Given the description of an element on the screen output the (x, y) to click on. 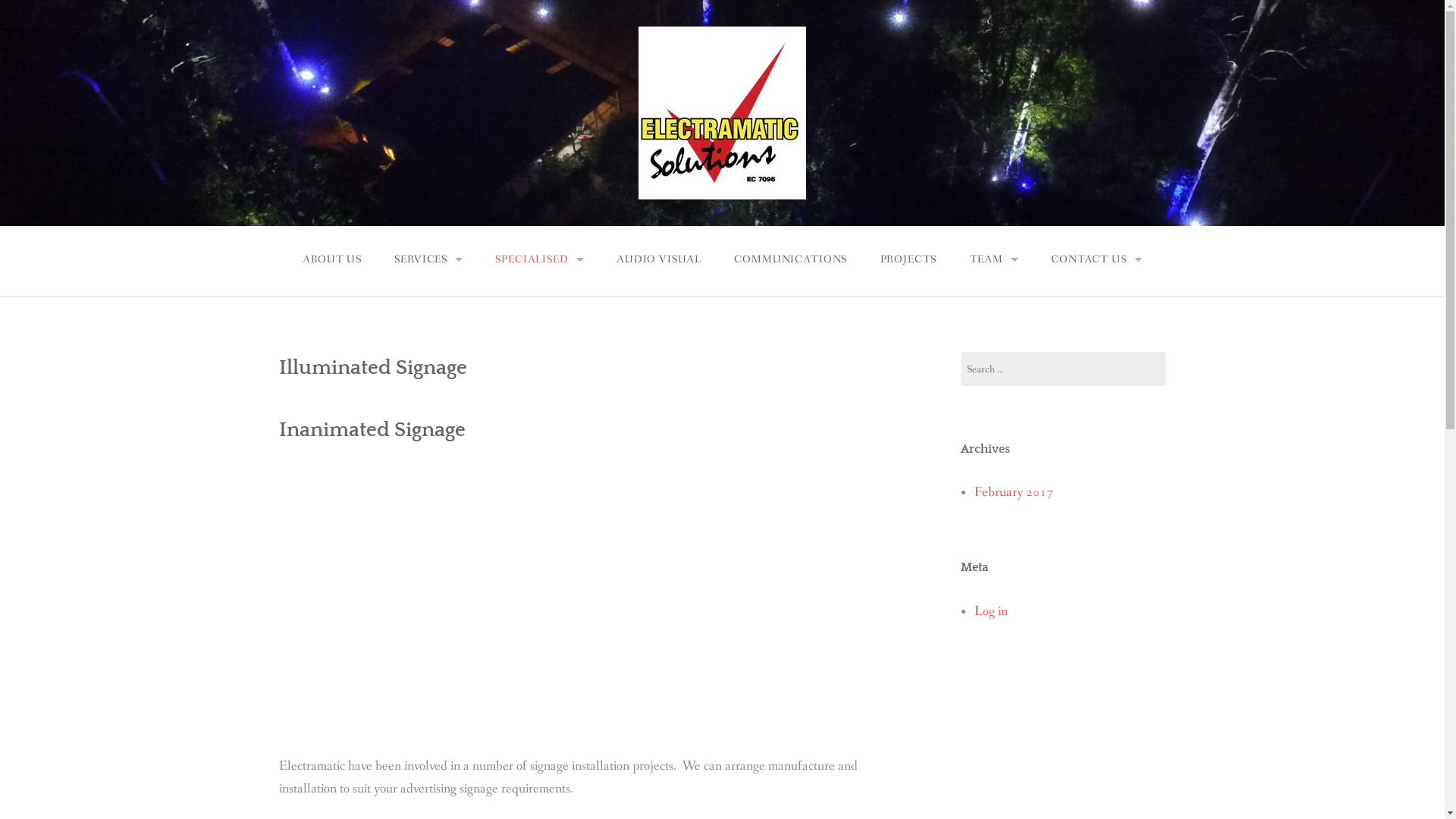
EMAIL Element type: text (1096, 336)
PERMANENT GENERATOR BACKUP Element type: text (419, 302)
UNDERGROUND CABLE LOCATION Element type: text (539, 522)
HOME AUTOMATION & CONTROL SOLUTIONS Element type: text (539, 556)
AUDIO VISUAL Element type: text (658, 259)
Skip to content Element type: text (0, 0)
SERVICES Element type: text (428, 259)
24 HR EMERGENCY CALLOUTS Element type: text (428, 302)
PROJECTS Element type: text (908, 259)
TEAM Element type: text (994, 259)
FIND US ON FACEBOOK Element type: text (1096, 302)
LED LANDSCAPE Element type: text (428, 541)
TEMPORARY GENERATOR SUPPLY Element type: text (419, 337)
RCD TESTING & LOGGING Element type: text (428, 575)
DATA LOGGING Element type: text (539, 453)
INDUSTRIAL AUTOMATION & CONTROL Element type: text (539, 590)
ILLUMINATED SIGNAGE Element type: text (539, 377)
Search Element type: text (34, 10)
ABOUT US Element type: text (332, 259)
SHEDS TO WAREHOUSES Element type: text (428, 472)
APPLIANCE TESTING & TAGGING Element type: text (428, 609)
GENERATOR BACK UP Element type: text (539, 302)
CONTACT US Element type: text (1096, 259)
THERMAL IMAGING Element type: text (539, 419)
SPECIALISED Element type: text (539, 259)
SHOP FIT OUTS, CALLOUTS Element type: text (428, 506)
February 2017 Element type: text (1013, 492)
COMMUNICATIONS Element type: text (790, 259)
POWER OUTLETS & SUPPLY Element type: text (428, 404)
HOT WATER REPAIRS Element type: text (428, 336)
Log in Element type: text (990, 611)
COMMERCIAL REFRIGERATION Element type: text (539, 336)
LIGHTING Element type: text (428, 370)
